Given the description of an element on the screen output the (x, y) to click on. 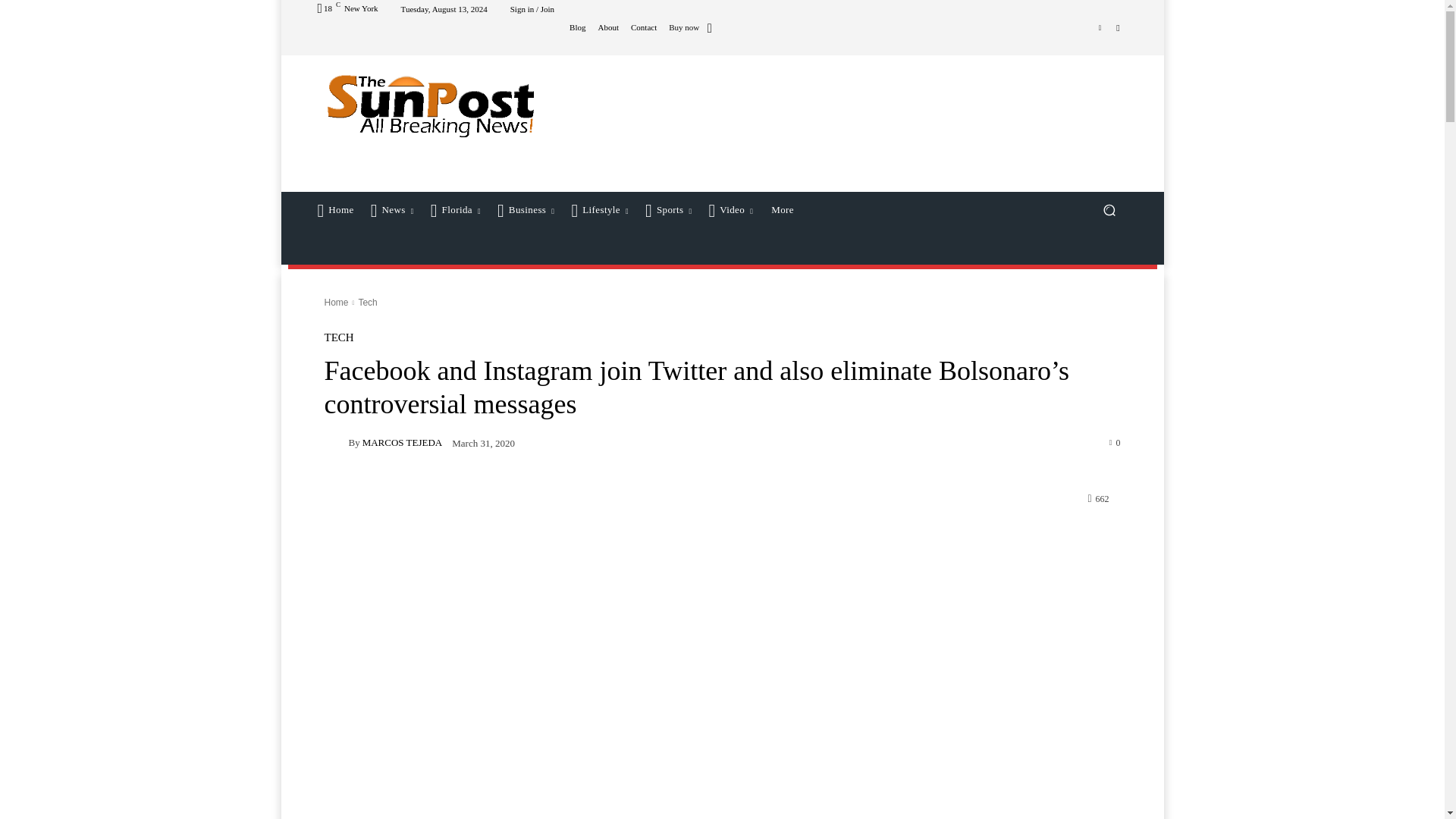
About (607, 27)
Blog (577, 27)
Youtube (1117, 27)
Vimeo (1099, 27)
Contact (643, 27)
